Given the description of an element on the screen output the (x, y) to click on. 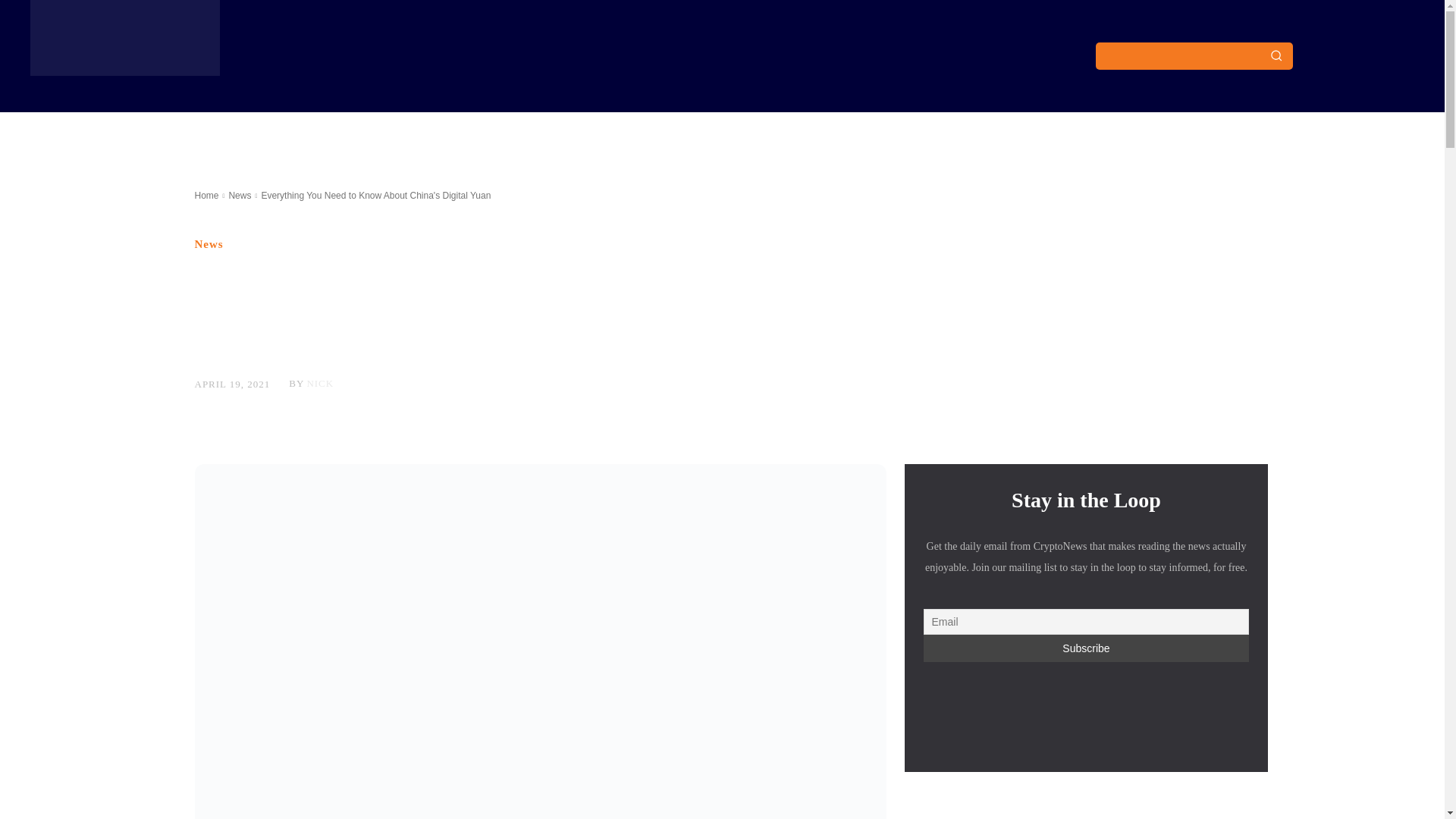
View all posts in News (239, 195)
Subscribe (1086, 647)
